Given the description of an element on the screen output the (x, y) to click on. 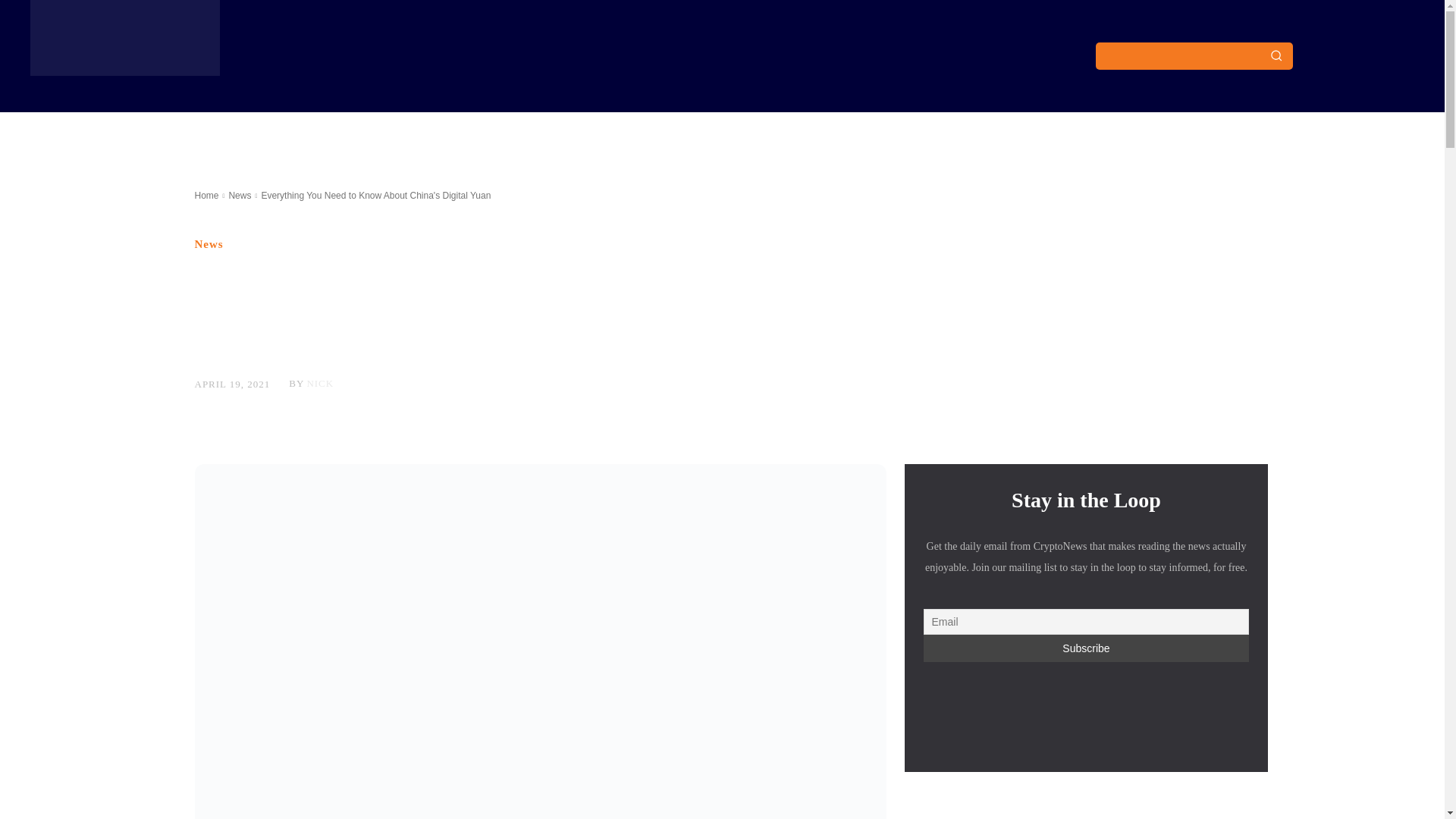
View all posts in News (239, 195)
Subscribe (1086, 647)
